Given the description of an element on the screen output the (x, y) to click on. 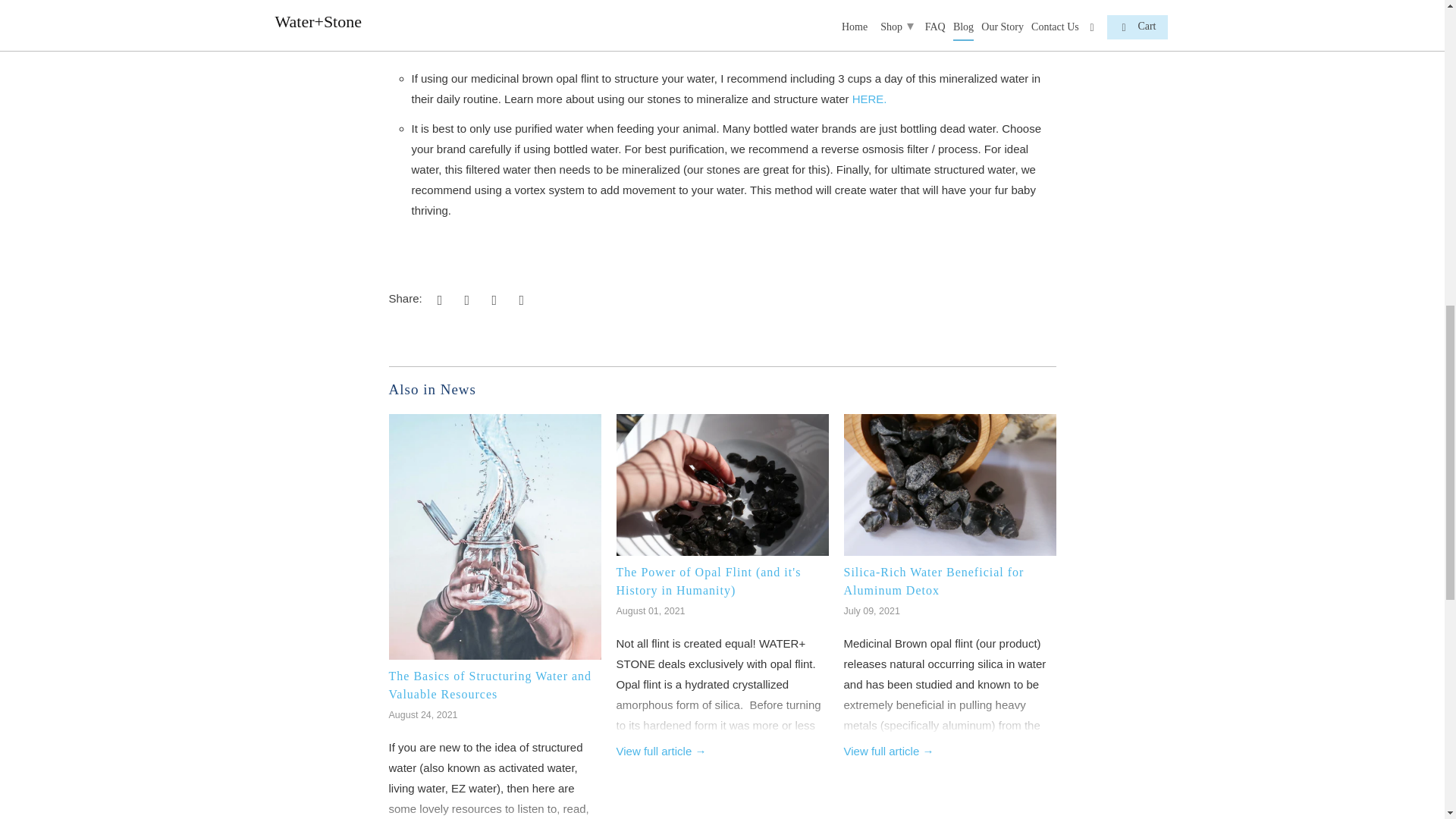
Share this on Twitter (437, 299)
The Basics of Structuring Water and Valuable Resources (489, 685)
HERE.  (870, 98)
Share this on Facebook (464, 299)
HERE (870, 98)
Email this to a friend (518, 299)
Share this on Pinterest (491, 299)
Silica-Rich Water Beneficial for Aluminum Detox (888, 750)
Silica-Rich Water Beneficial for Aluminum Detox (949, 488)
The Basics of Structuring Water and Valuable Resources (489, 685)
Silica-Rich Water Beneficial for Aluminum Detox (933, 581)
Silica-Rich Water Beneficial for Aluminum Detox (933, 581)
The Basics of Structuring Water and Valuable Resources (493, 540)
